Given the description of an element on the screen output the (x, y) to click on. 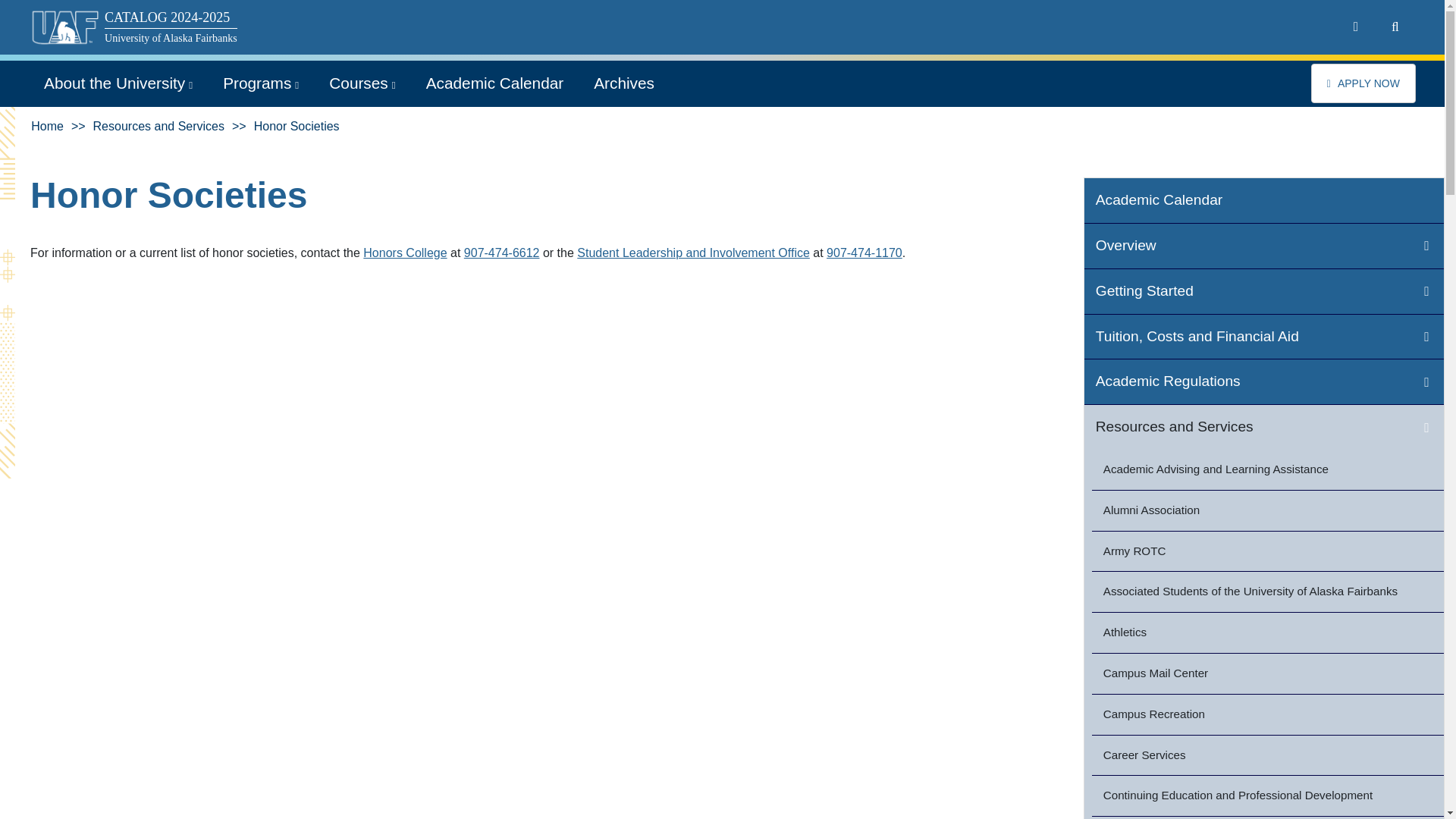
CATALOG 2024-2025 (170, 17)
APPLY NOW (1363, 83)
Courses (362, 83)
University of Alaska Fairbanks (170, 36)
Academic Calendar (494, 83)
Archives (623, 83)
Programs (261, 83)
About the University (118, 83)
